Given the description of an element on the screen output the (x, y) to click on. 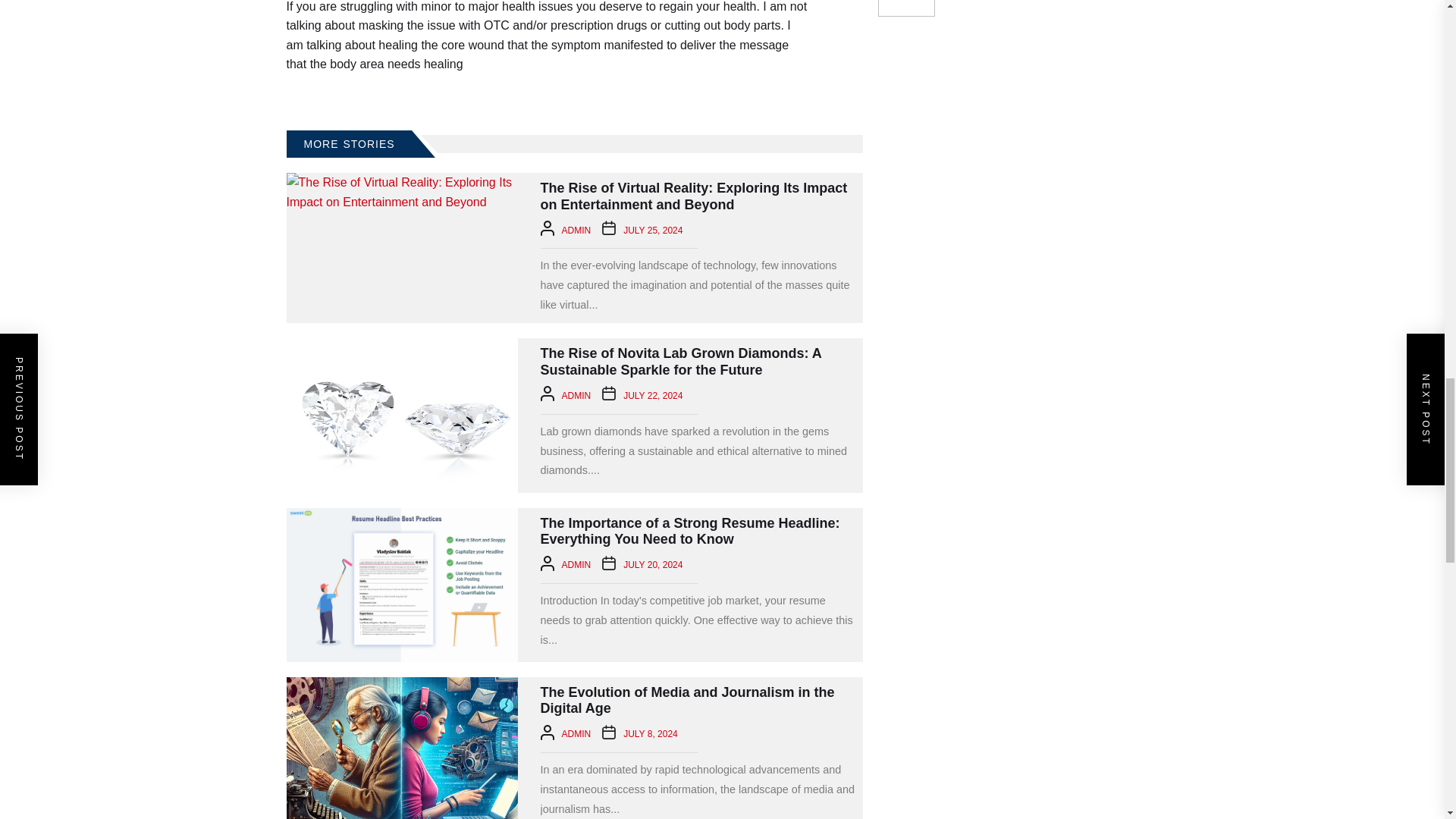
The Evolution of Media and Journalism in the Digital Age (402, 748)
